Given the description of an element on the screen output the (x, y) to click on. 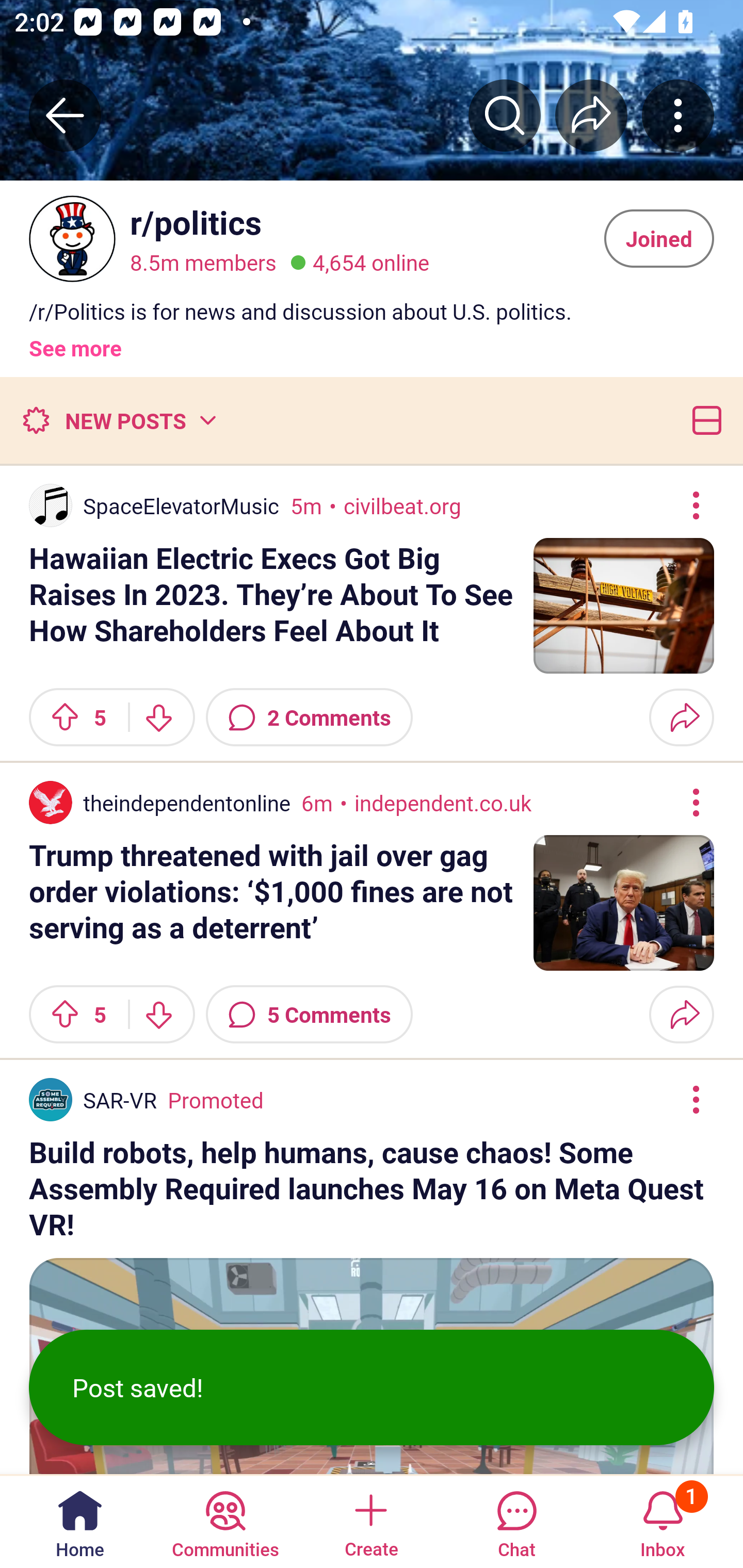
Back (64, 115)
Search r/﻿politics (504, 115)
Share r/﻿politics (591, 115)
More community actions (677, 115)
New posts NEW POSTS (118, 420)
Card (703, 420)
Home (80, 1520)
Communities (225, 1520)
Create a post Create (370, 1520)
Chat (516, 1520)
Inbox, has 1 notification 1 Inbox (662, 1520)
